Given the description of an element on the screen output the (x, y) to click on. 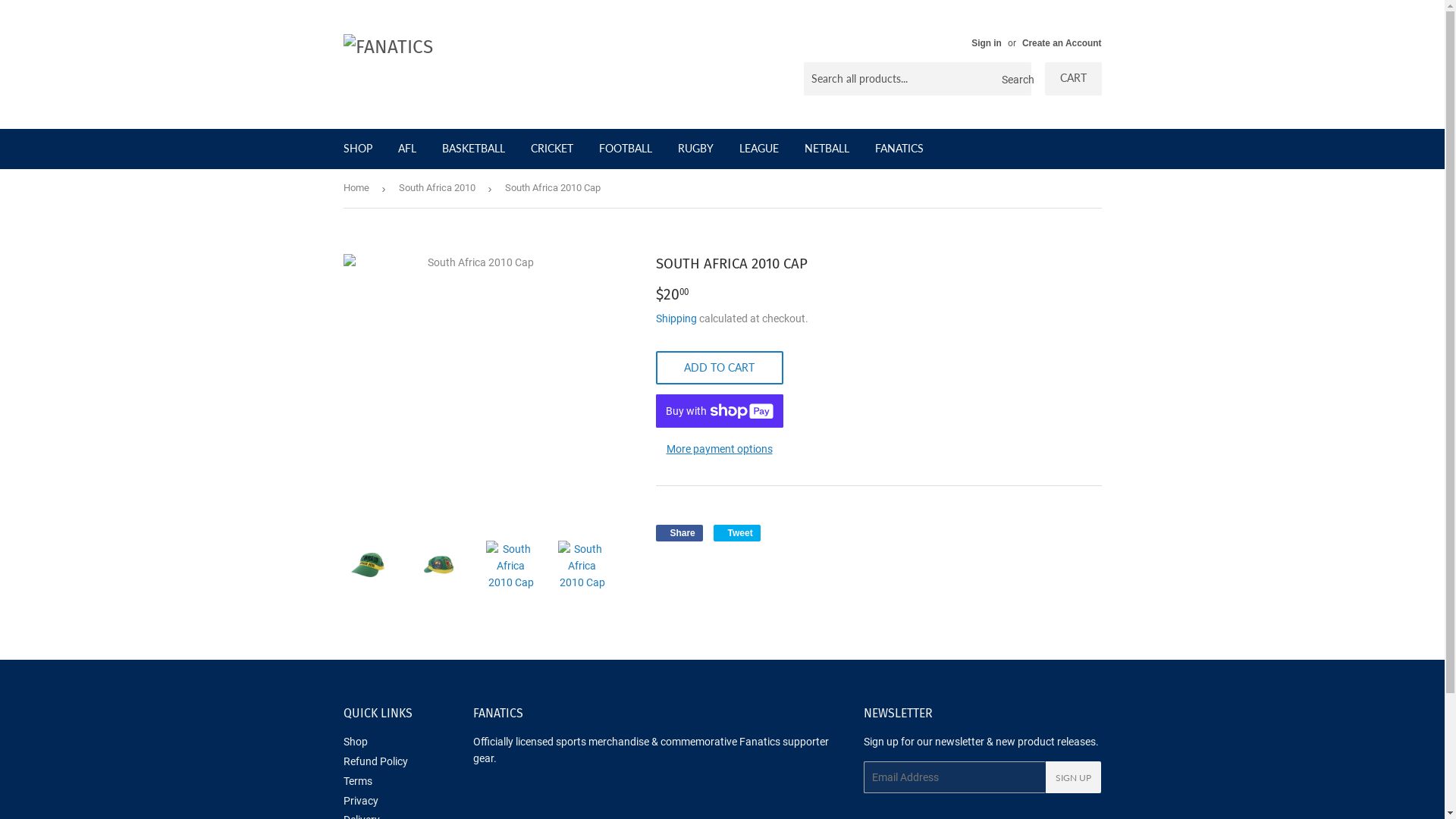
Sign in Element type: text (986, 42)
Terms Element type: text (356, 781)
RUGBY Element type: text (694, 148)
Tweet
Tweet on Twitter Element type: text (736, 532)
CRICKET Element type: text (550, 148)
Share
Share on Facebook Element type: text (678, 532)
AFL Element type: text (406, 148)
Refund Policy Element type: text (374, 761)
SIGN UP Element type: text (1073, 777)
Search Element type: text (1013, 79)
Shop Element type: text (354, 741)
Home Element type: text (357, 188)
FANATICS Element type: text (898, 148)
SHOP Element type: text (357, 148)
CART Element type: text (1072, 78)
FOOTBALL Element type: text (624, 148)
ADD TO CART Element type: text (718, 367)
Shipping Element type: text (675, 318)
BASKETBALL Element type: text (473, 148)
More payment options Element type: text (718, 448)
NETBALL Element type: text (826, 148)
South Africa 2010 Element type: text (439, 188)
Create an Account Element type: text (1061, 42)
Privacy Element type: text (359, 800)
LEAGUE Element type: text (759, 148)
